Given the description of an element on the screen output the (x, y) to click on. 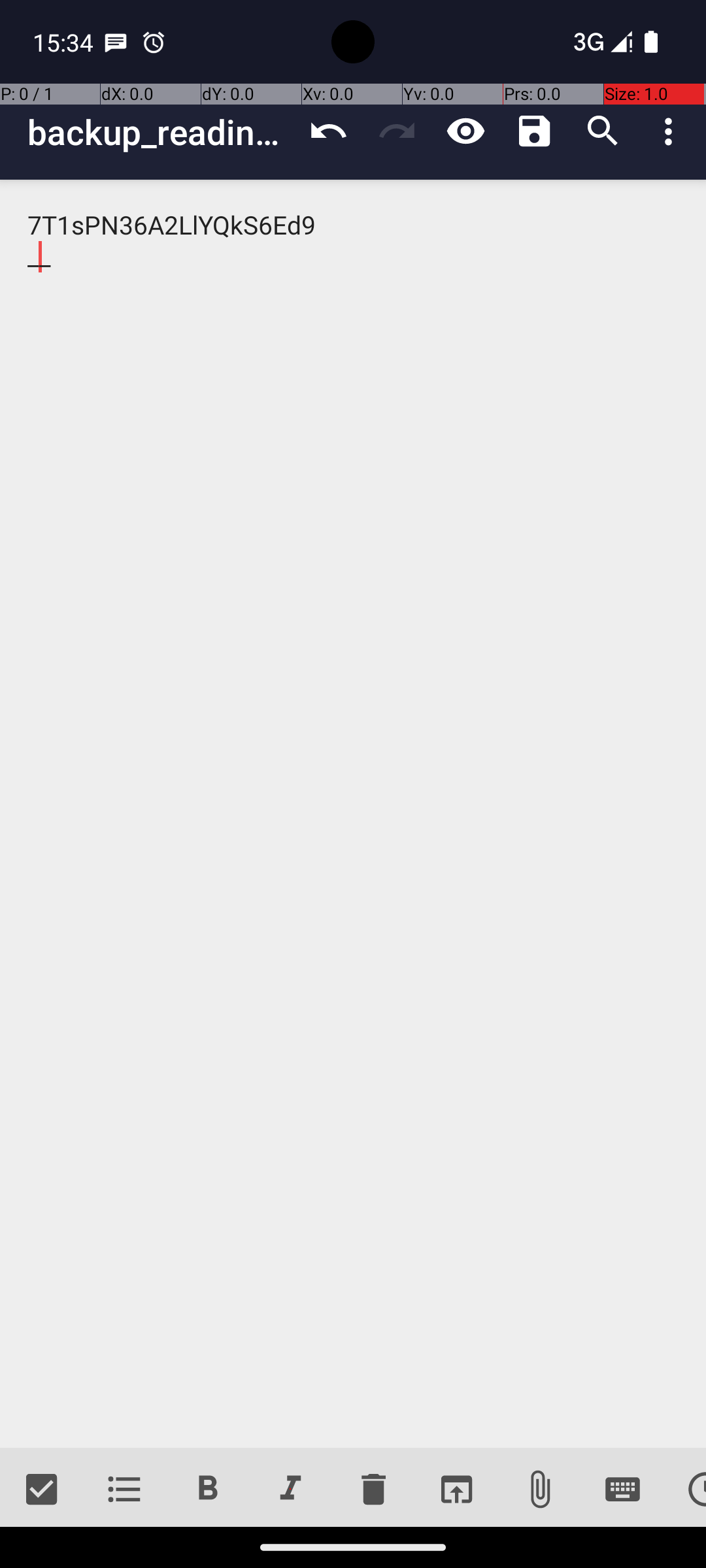
backup_reading_list_2024 Element type: android.widget.TextView (160, 131)
7T1sPN36A2LlYQkS6Ed9
__ Element type: android.widget.EditText (353, 813)
